Given the description of an element on the screen output the (x, y) to click on. 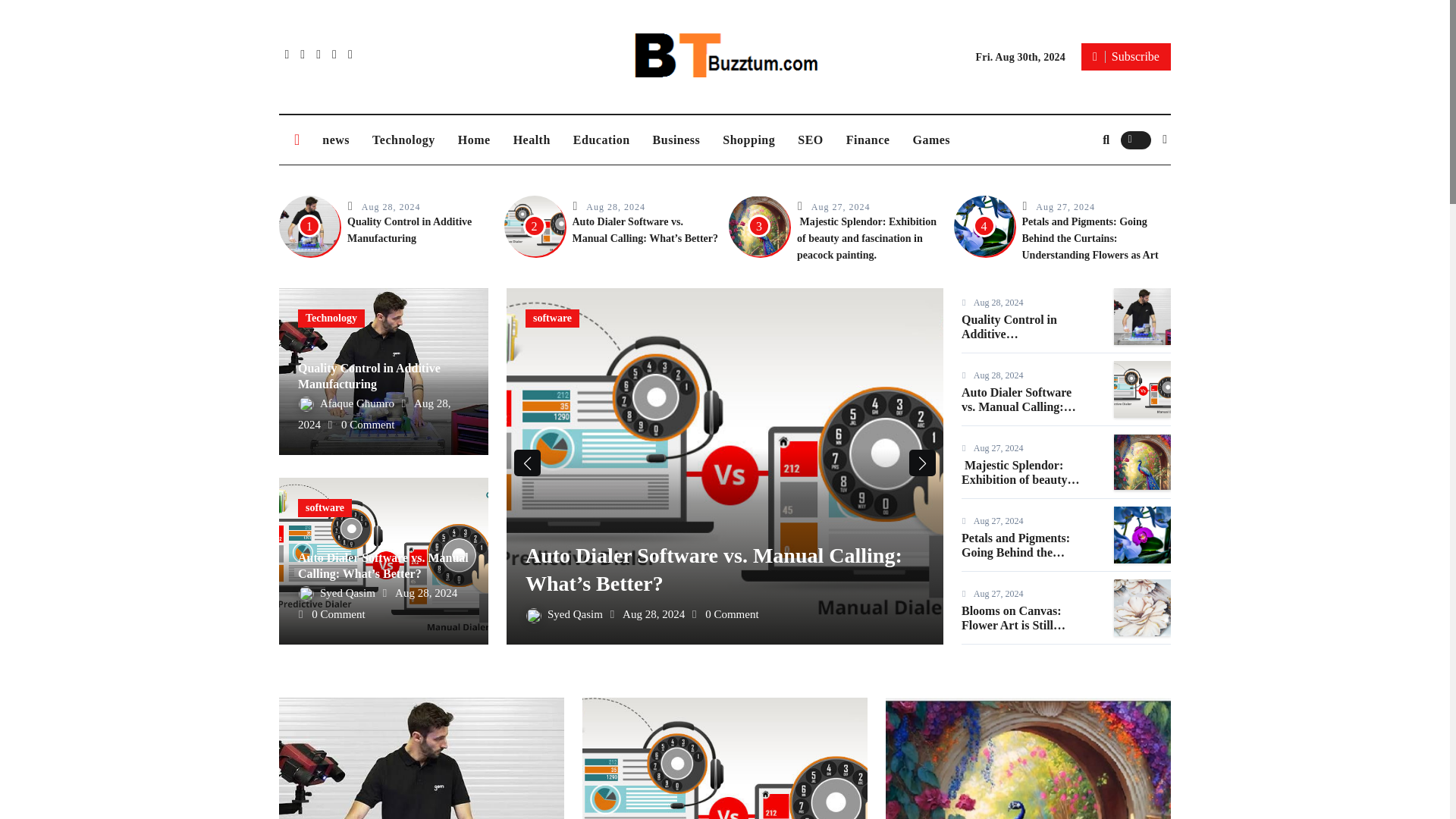
Games (930, 139)
Home (474, 139)
Aug 27, 2024 (1064, 206)
Quality Control in Additive Manufacturing (409, 230)
news (336, 139)
Business (676, 139)
Aug 27, 2024 (840, 206)
Education (602, 139)
Education (602, 139)
